Given the description of an element on the screen output the (x, y) to click on. 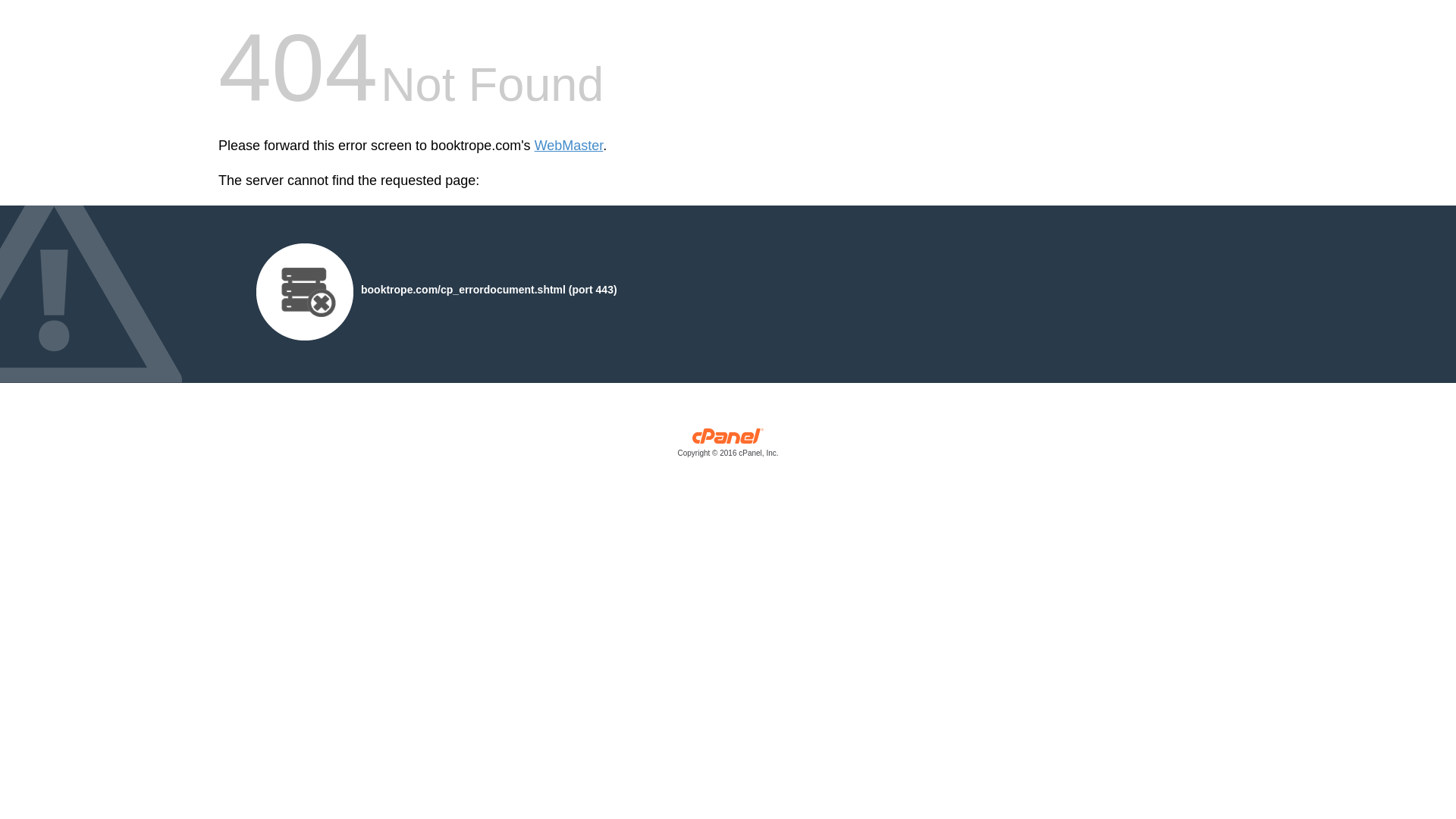
cPanel, Inc. (727, 446)
WebMaster (569, 145)
